Given the description of an element on the screen output the (x, y) to click on. 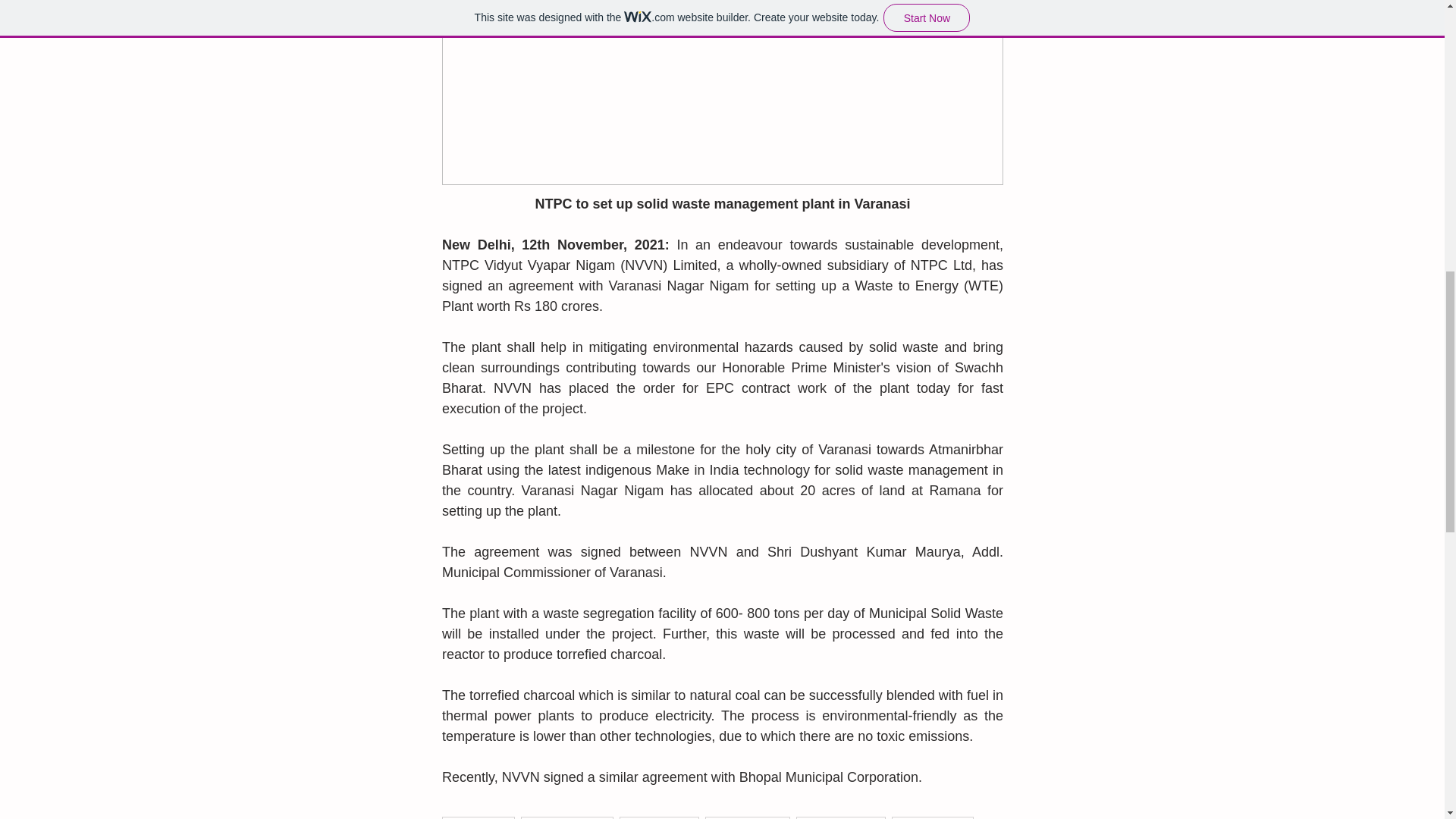
biz industry (478, 817)
business news (840, 817)
finance news (932, 817)
national news (747, 817)
corporate news (566, 817)
market news (659, 817)
